Given the description of an element on the screen output the (x, y) to click on. 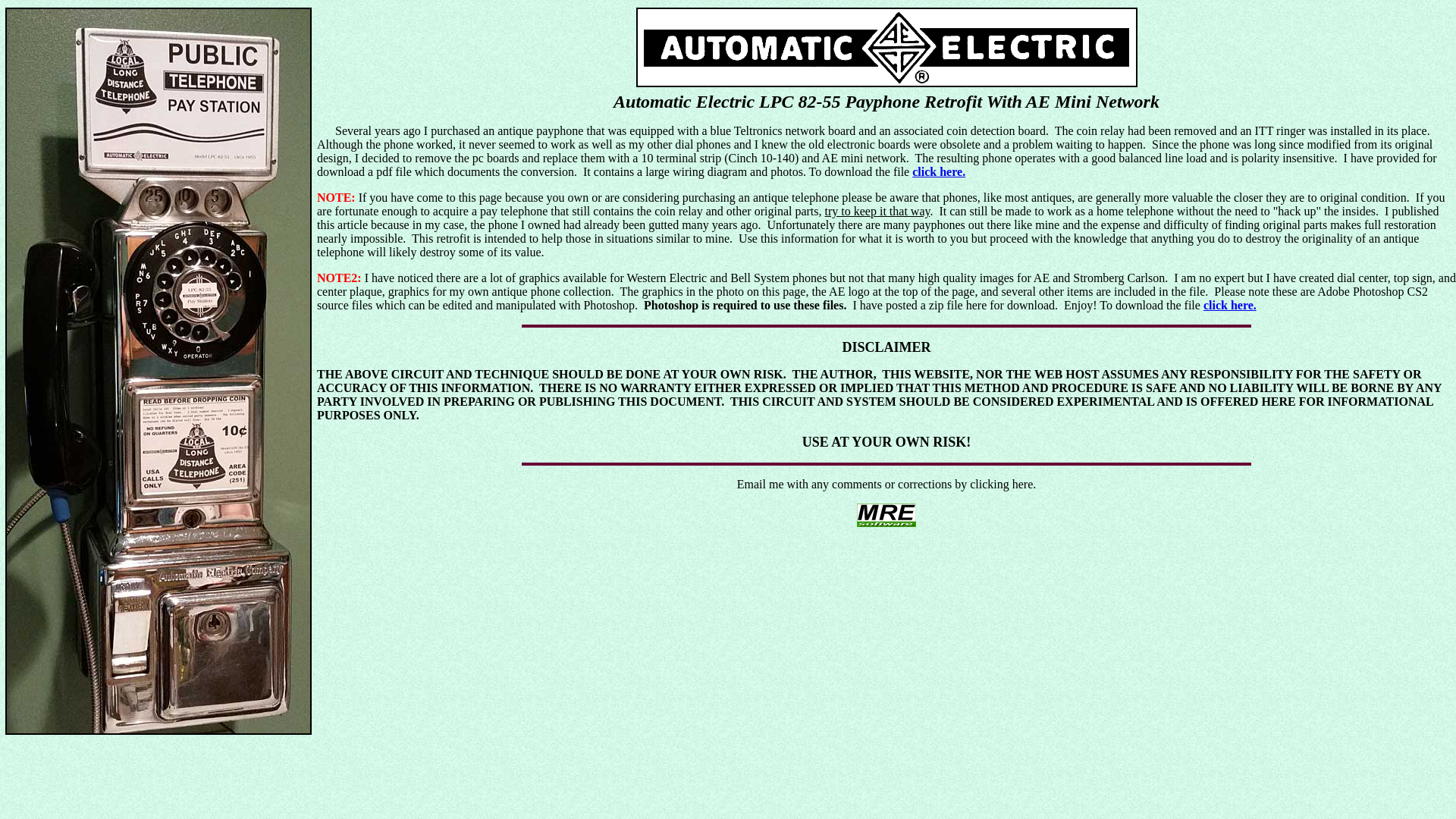
Advertisement (593, 653)
click here. (938, 171)
Email me with any comments or corrections by clicking here. (886, 483)
MRE Software Home Page (886, 522)
click here. (1230, 305)
